Given the description of an element on the screen output the (x, y) to click on. 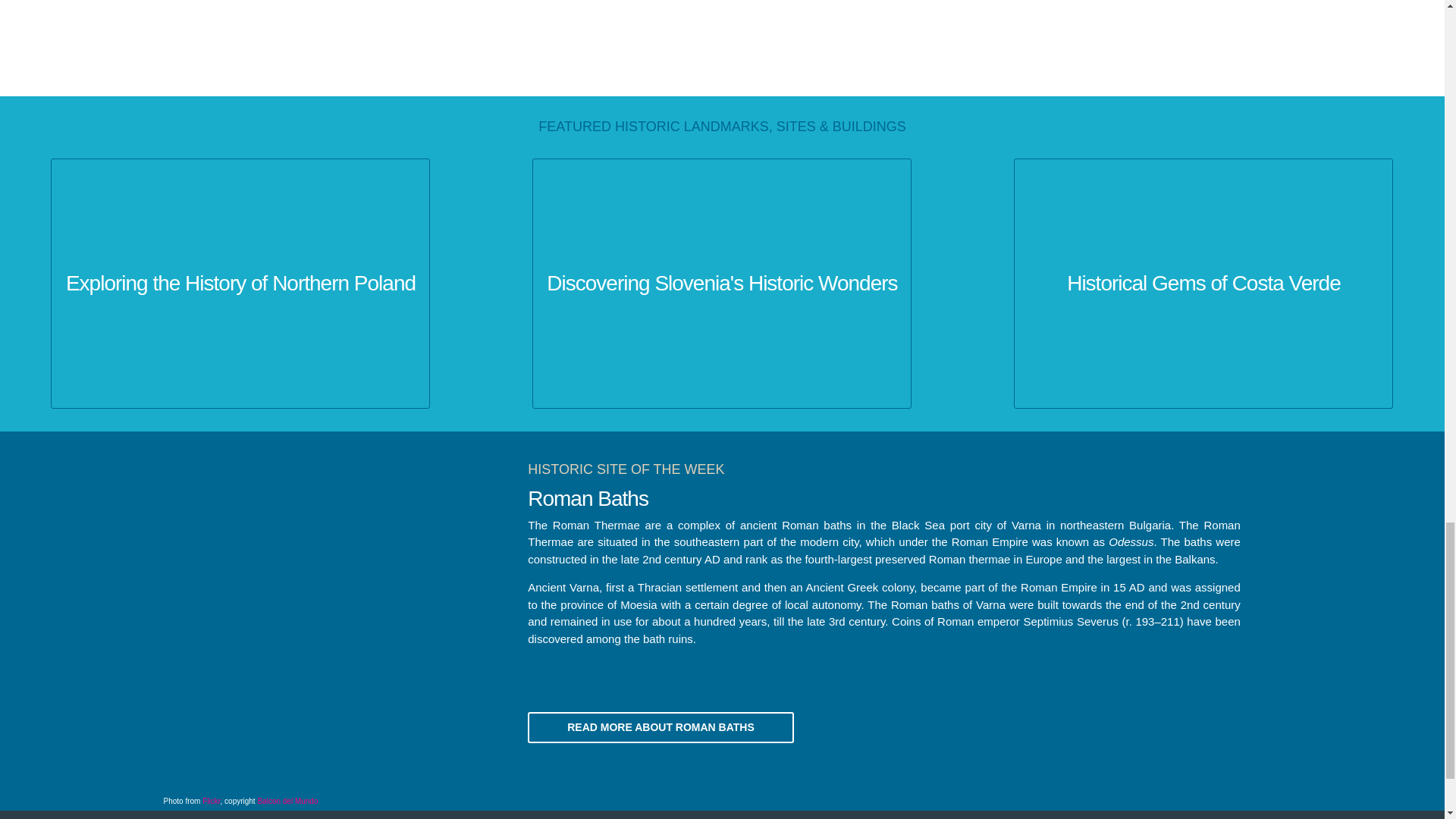
Balcon del Mundo (287, 800)
Discovering Slovenia's Historic Wonders (721, 283)
Exploring the History of Northern Poland (239, 283)
Flickr (210, 800)
Historical Gems of Costa Verde (1203, 283)
